Given the description of an element on the screen output the (x, y) to click on. 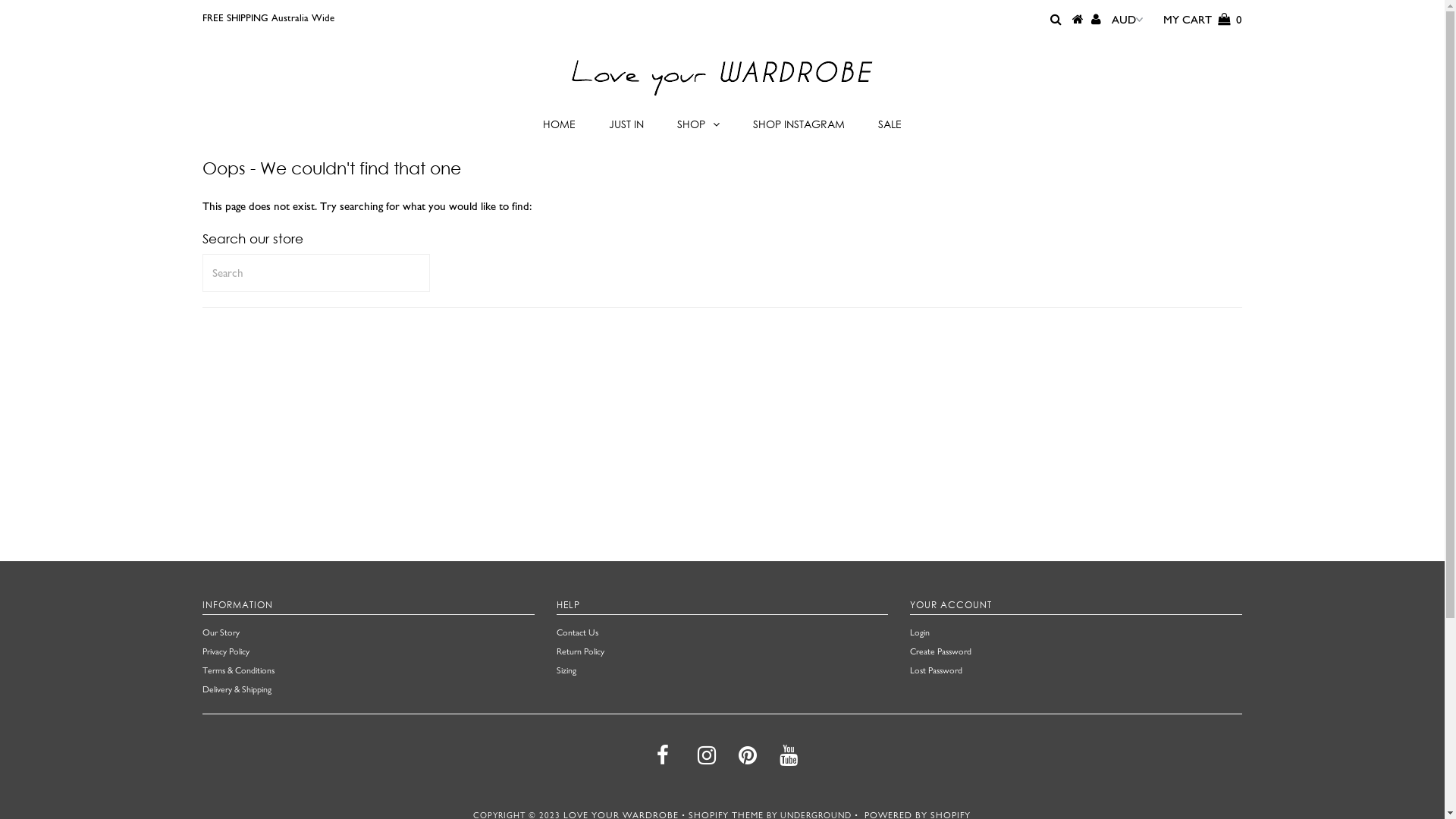
Login Element type: text (919, 632)
Our Story Element type: text (220, 632)
Create Password Element type: text (940, 651)
HOME Element type: text (558, 124)
Return Policy Element type: text (580, 651)
Sizing Element type: text (566, 670)
Contact Us Element type: text (577, 632)
Lost Password Element type: text (936, 670)
MY CART    0 Element type: text (1202, 19)
SHOP Element type: text (698, 124)
SALE Element type: text (889, 124)
Privacy Policy Element type: text (225, 651)
SHOP INSTAGRAM Element type: text (798, 124)
JUST IN Element type: text (625, 124)
Terms & Conditions Element type: text (238, 670)
Delivery & Shipping Element type: text (236, 689)
